Given the description of an element on the screen output the (x, y) to click on. 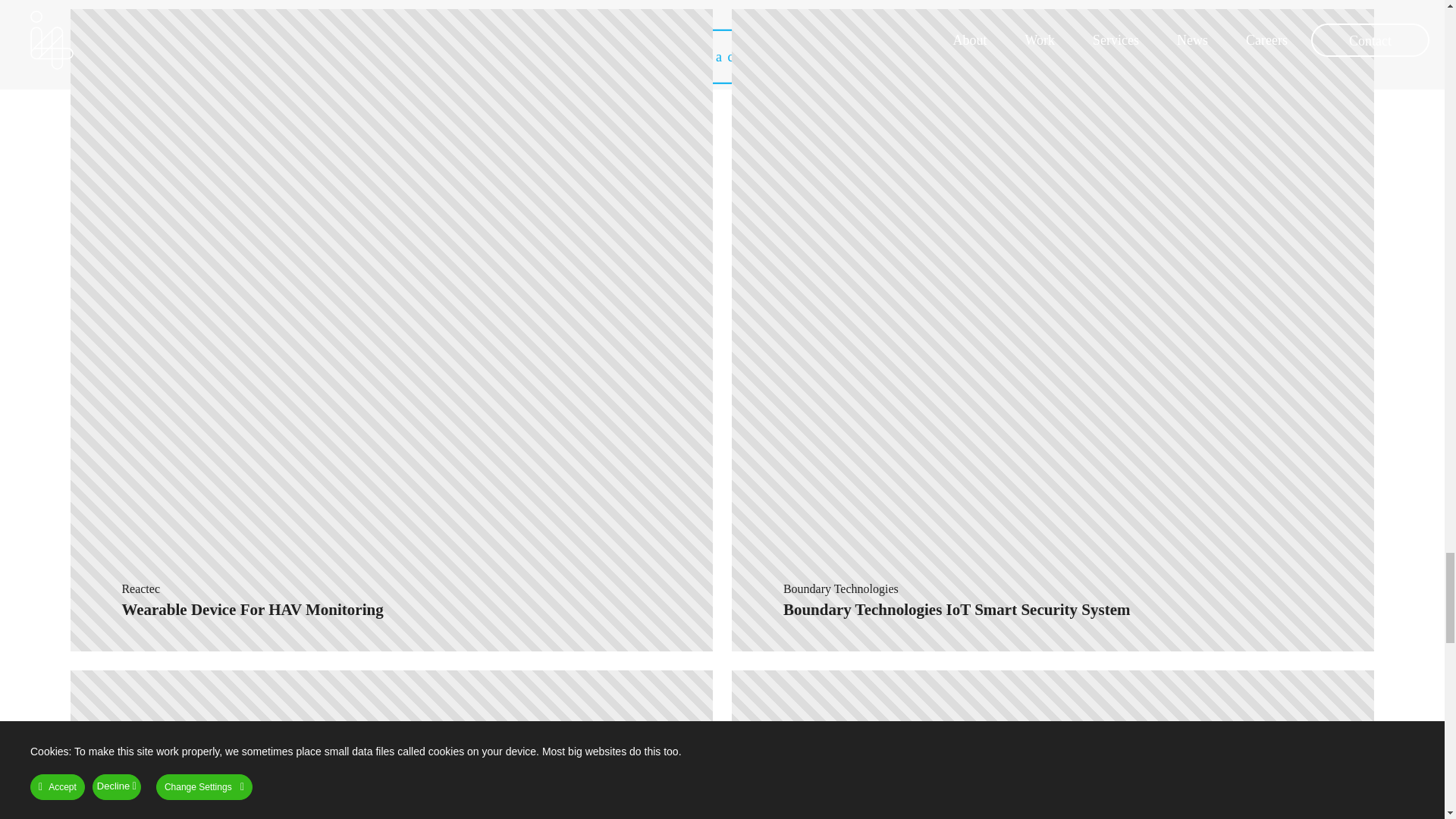
Schedule a call today (391, 739)
